Given the description of an element on the screen output the (x, y) to click on. 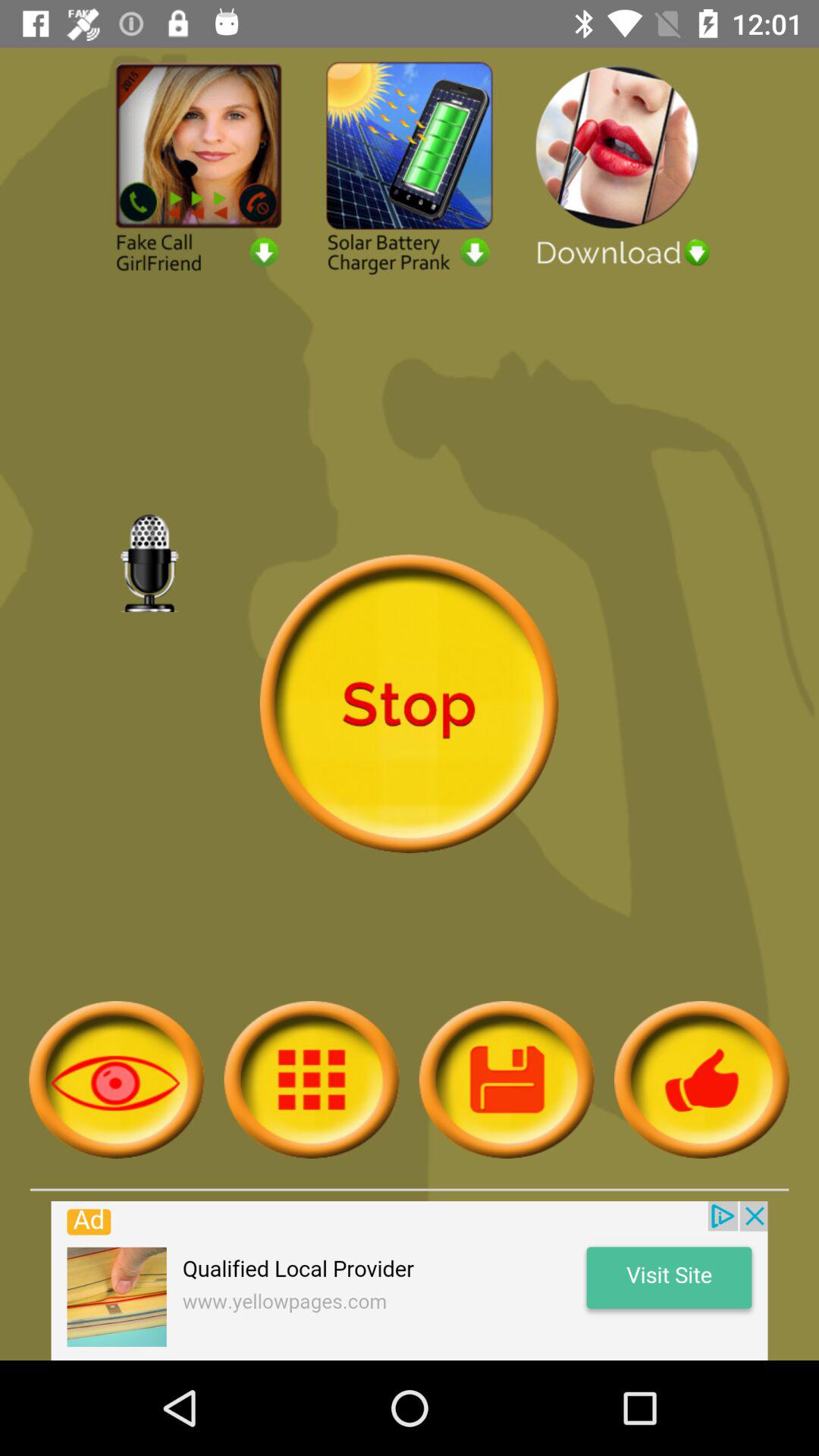
view the advertisement (409, 1280)
